Given the description of an element on the screen output the (x, y) to click on. 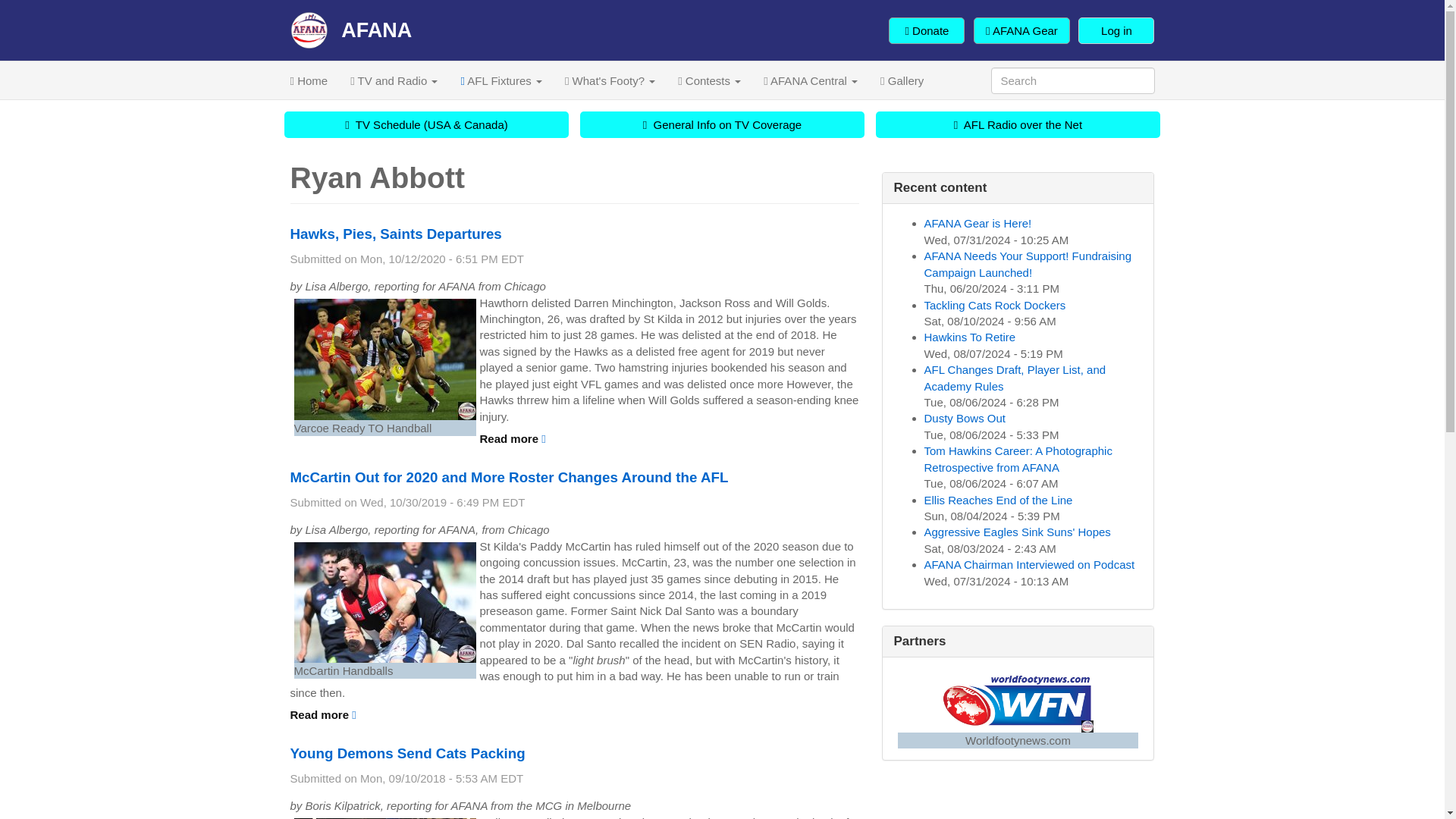
What's Footy? (609, 80)
Contests (709, 80)
Aussie Rules News and Content (309, 80)
Log in (1116, 29)
AFL Fixtures (500, 80)
Home (309, 80)
Donate (925, 29)
AFANA Gear (1022, 29)
TV and Radio (393, 80)
